Given the description of an element on the screen output the (x, y) to click on. 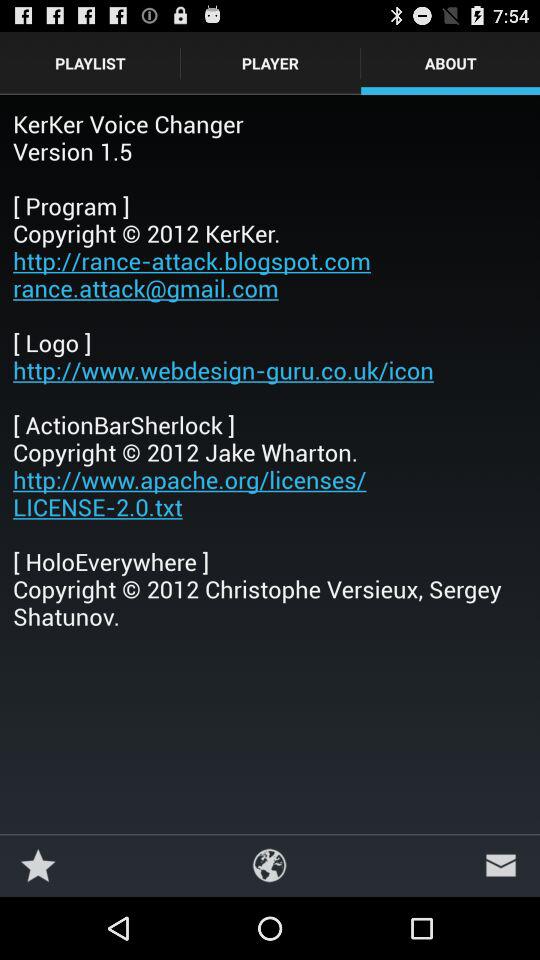
launch the item at the bottom left corner (38, 864)
